Given the description of an element on the screen output the (x, y) to click on. 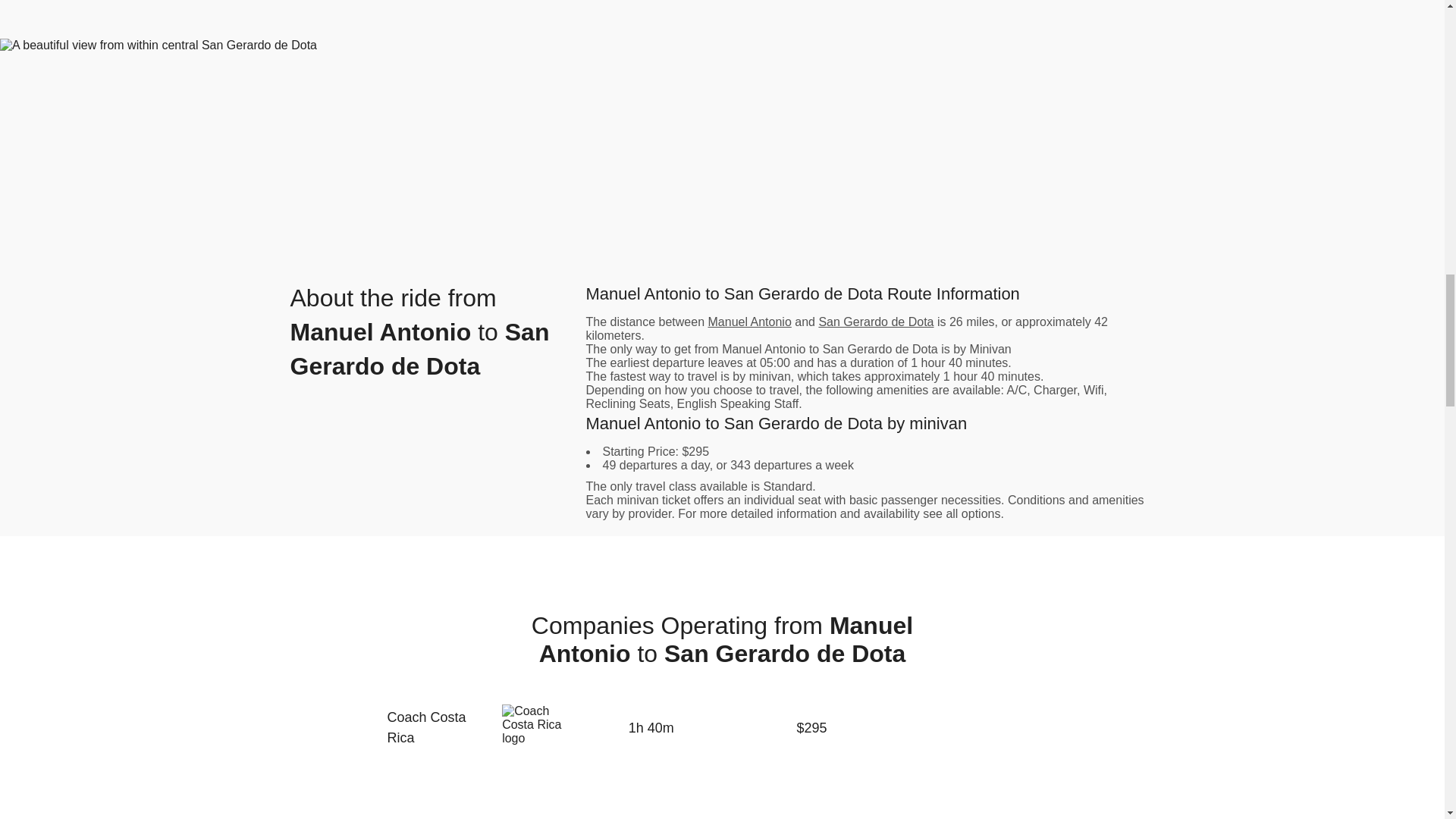
San Gerardo de Dota (875, 321)
Coach Costa Rica (435, 727)
Manuel Antonio (749, 321)
